Given the description of an element on the screen output the (x, y) to click on. 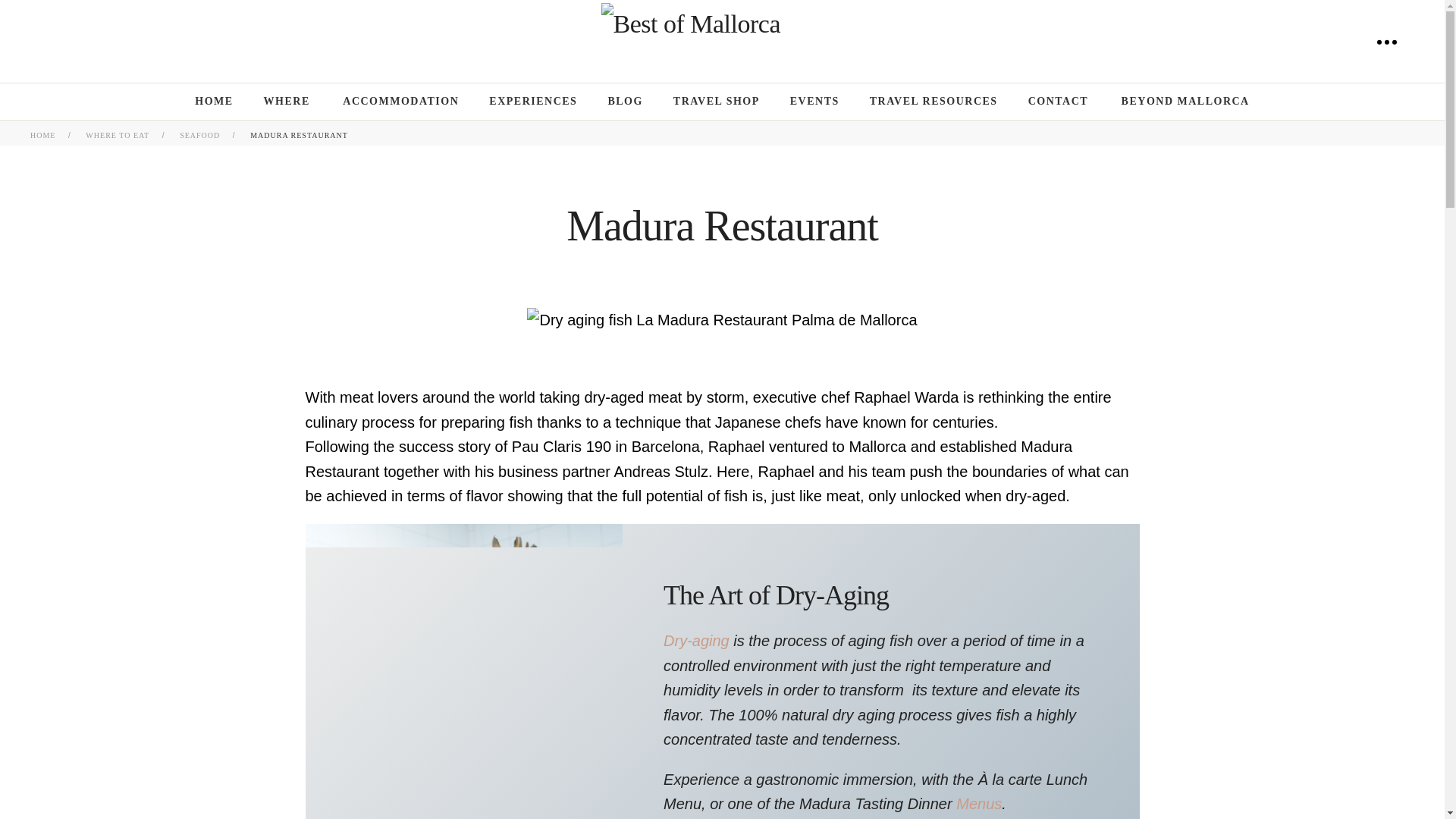
WHERE (288, 101)
HOME (213, 101)
ACCOMMODATION (400, 101)
BLOG (624, 101)
EXPERIENCES (532, 101)
